Given the description of an element on the screen output the (x, y) to click on. 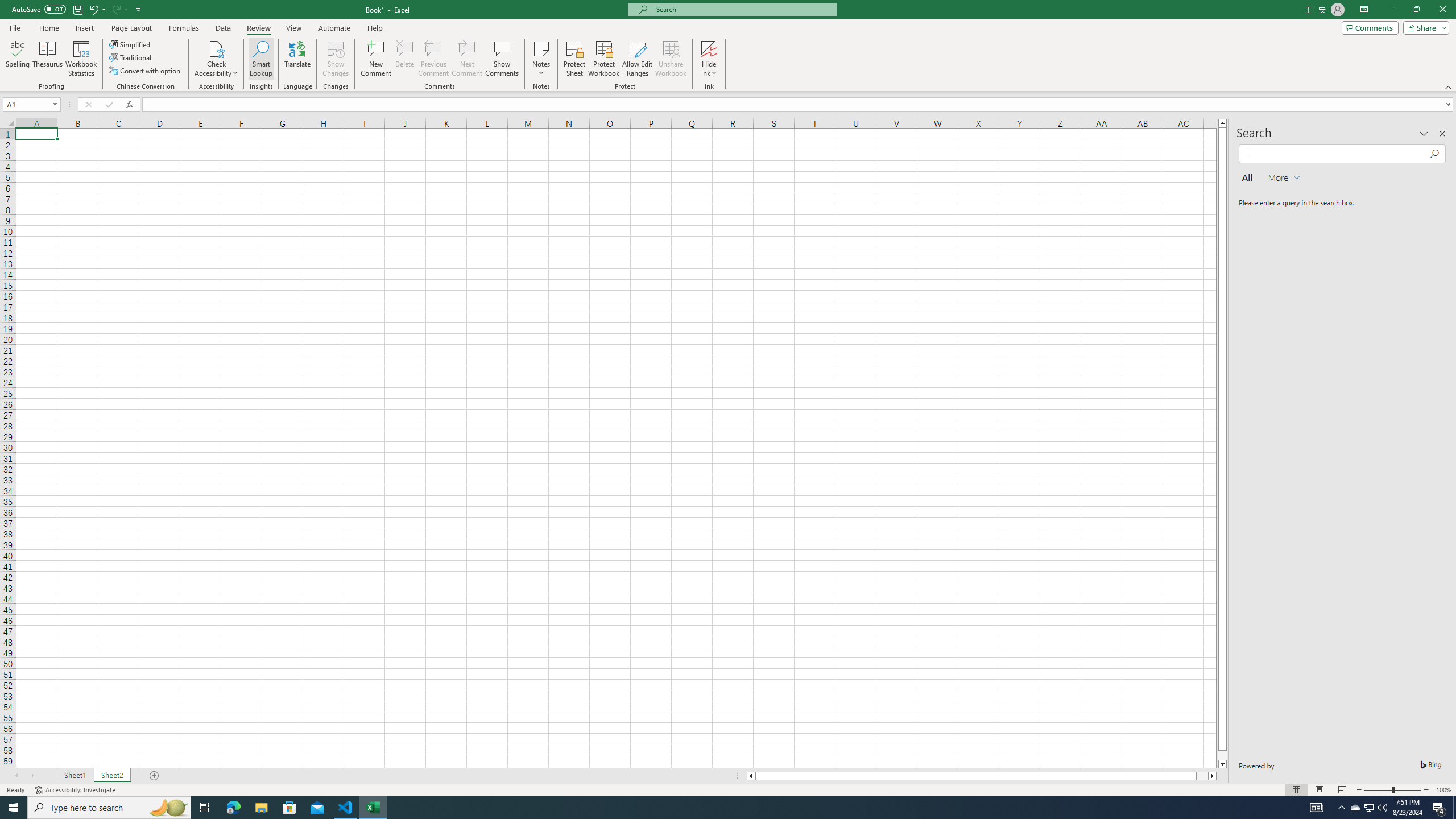
Protect Sheet... (574, 58)
Allow Edit Ranges (637, 58)
